Given the description of an element on the screen output the (x, y) to click on. 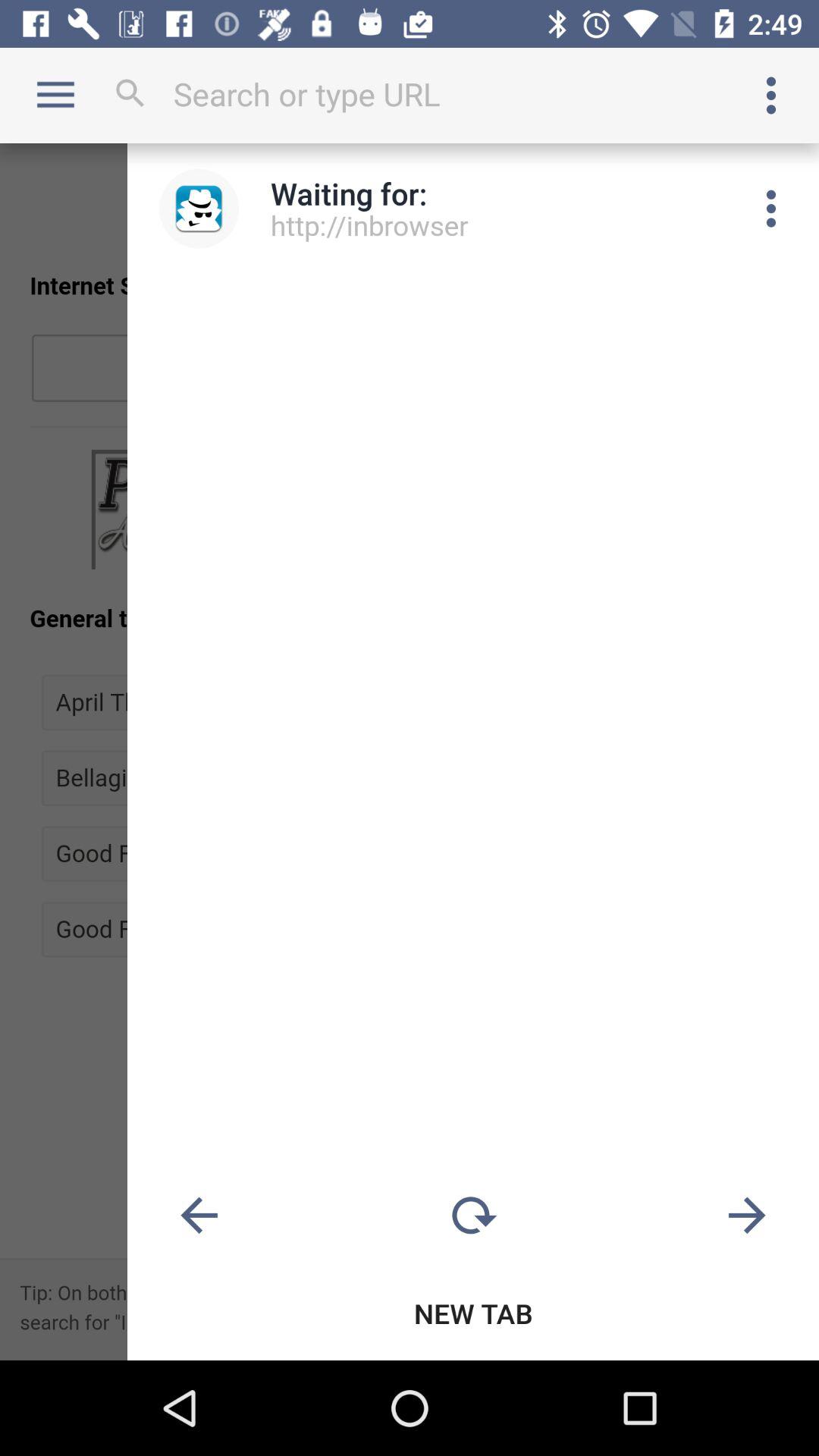
view options (771, 95)
